Given the description of an element on the screen output the (x, y) to click on. 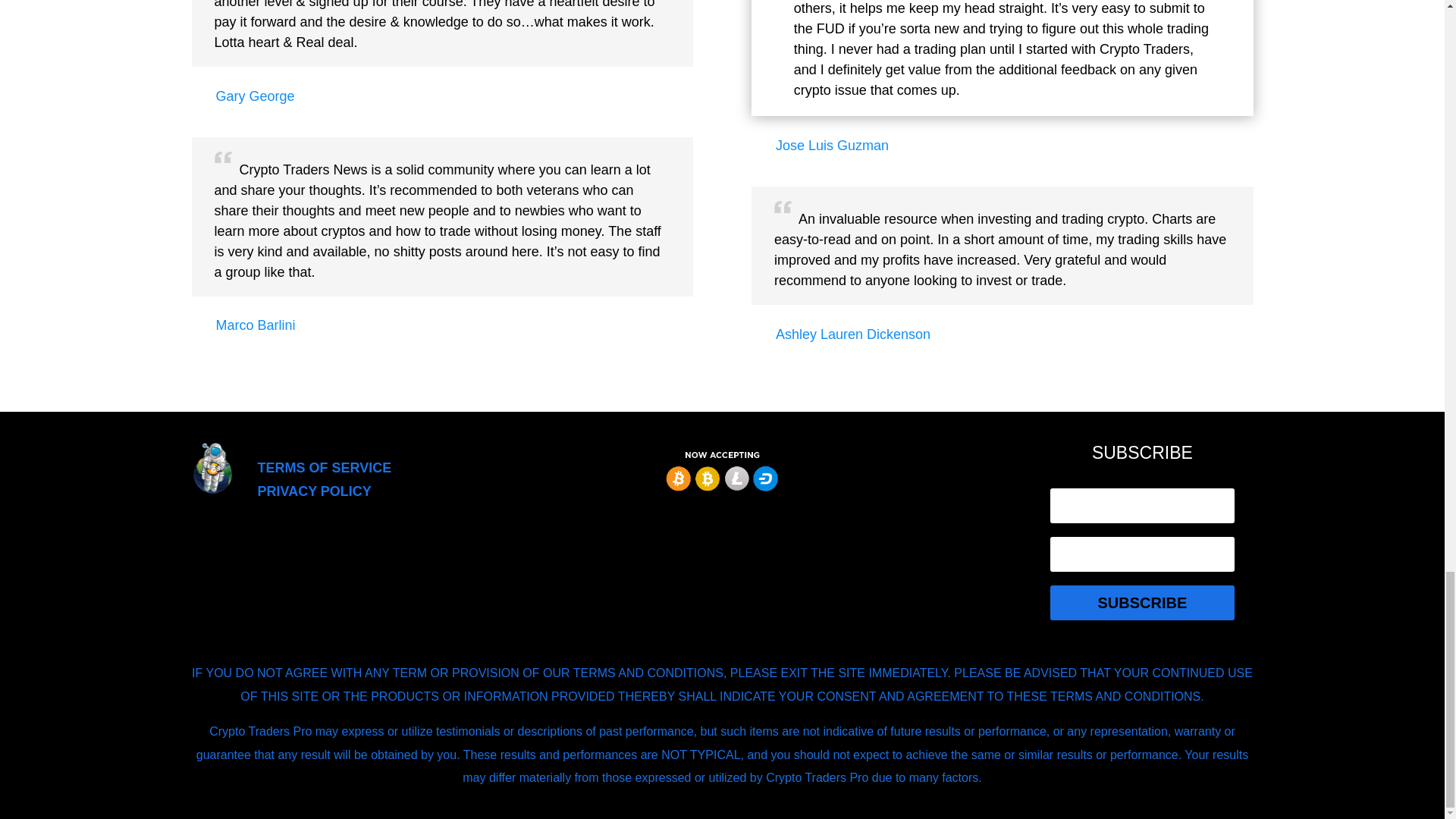
SUBSCRIBE (1141, 602)
TERMS OF SERVICE (324, 467)
PRIVACY POLICY (314, 491)
